Given the description of an element on the screen output the (x, y) to click on. 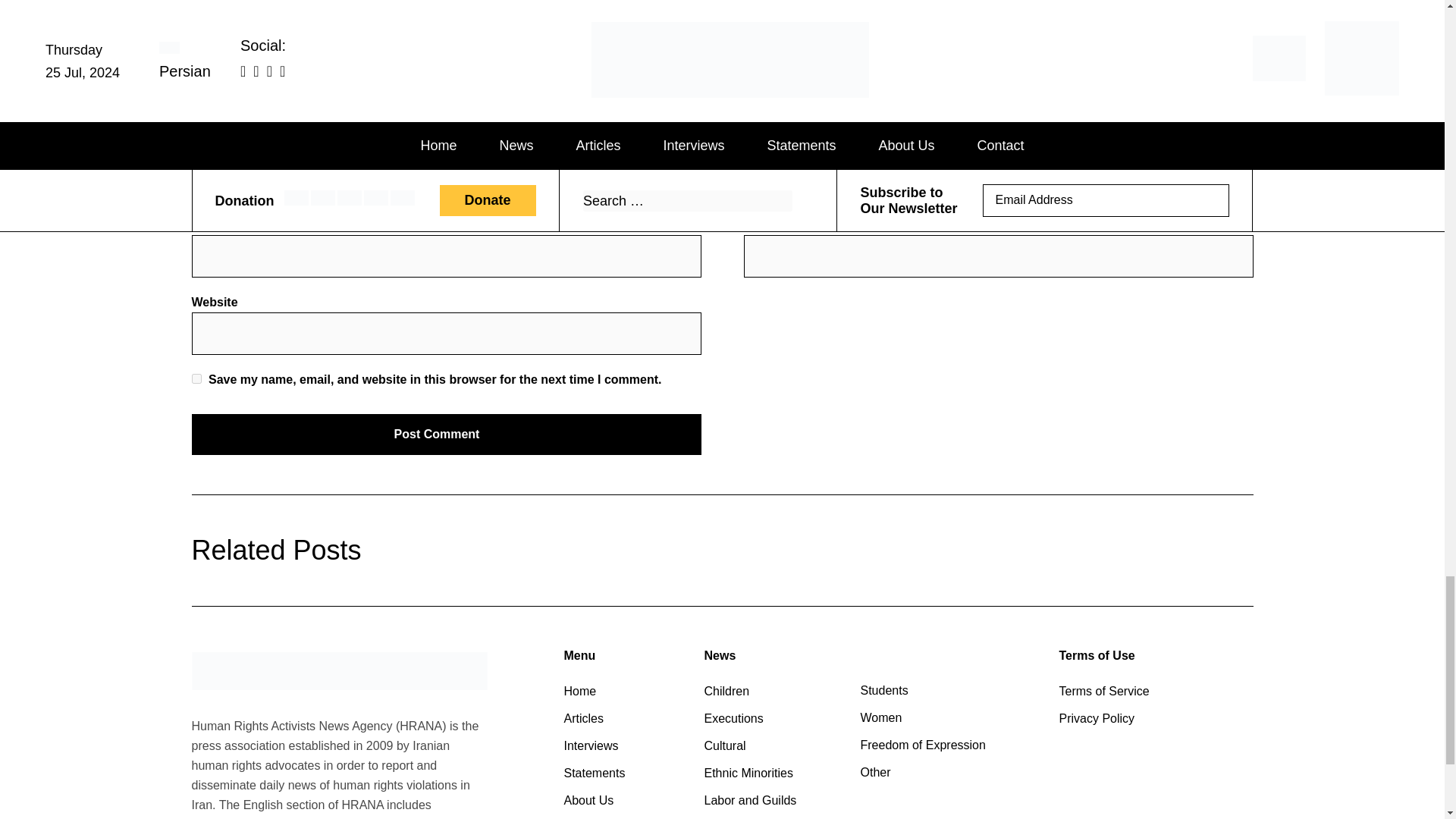
Post Comment (445, 434)
yes (195, 378)
